Given the description of an element on the screen output the (x, y) to click on. 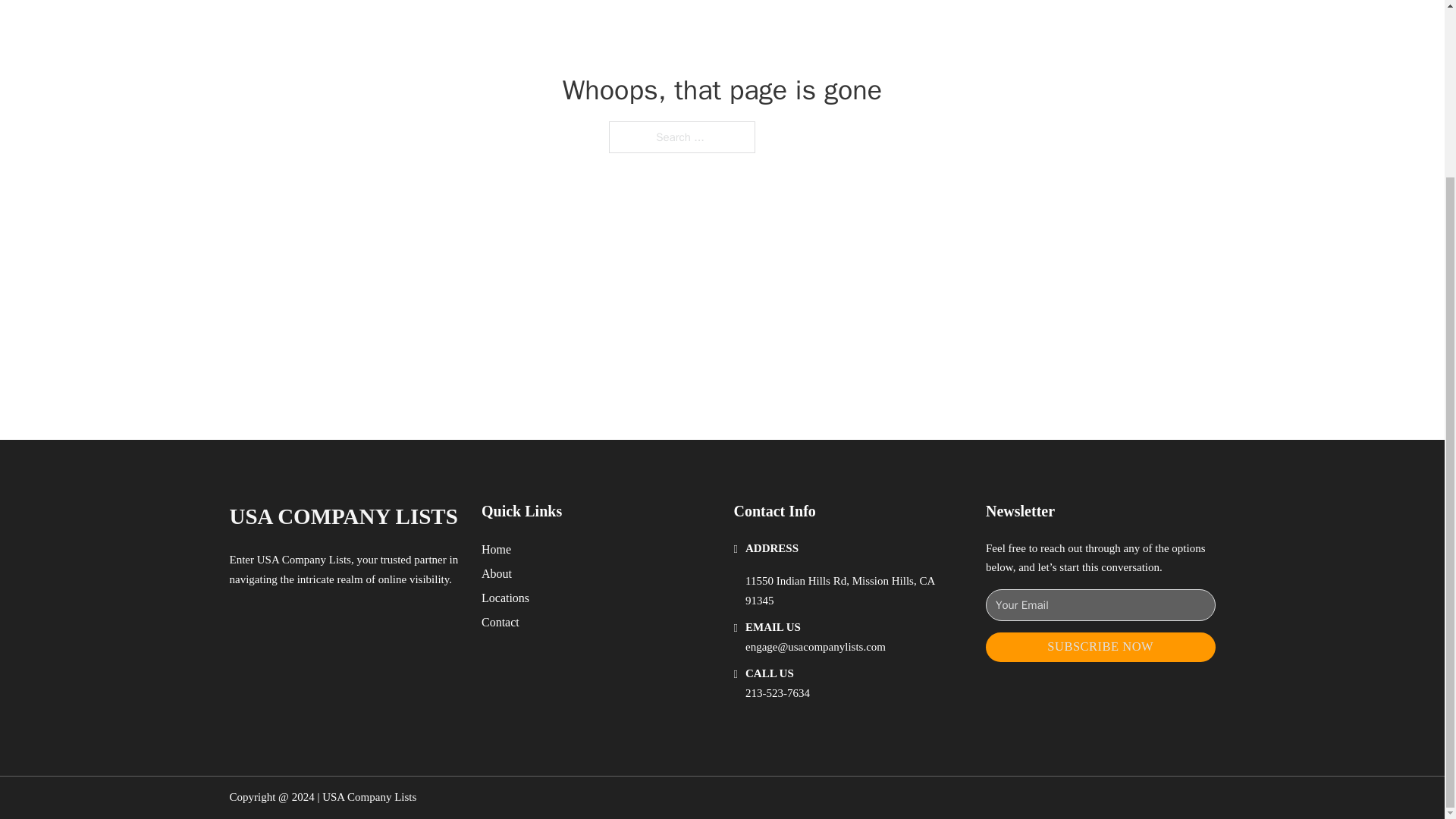
Locations (505, 598)
Home (496, 548)
SUBSCRIBE NOW (1100, 646)
Contact (500, 621)
About (496, 573)
USA COMPANY LISTS (342, 516)
213-523-7634 (777, 693)
